Given the description of an element on the screen output the (x, y) to click on. 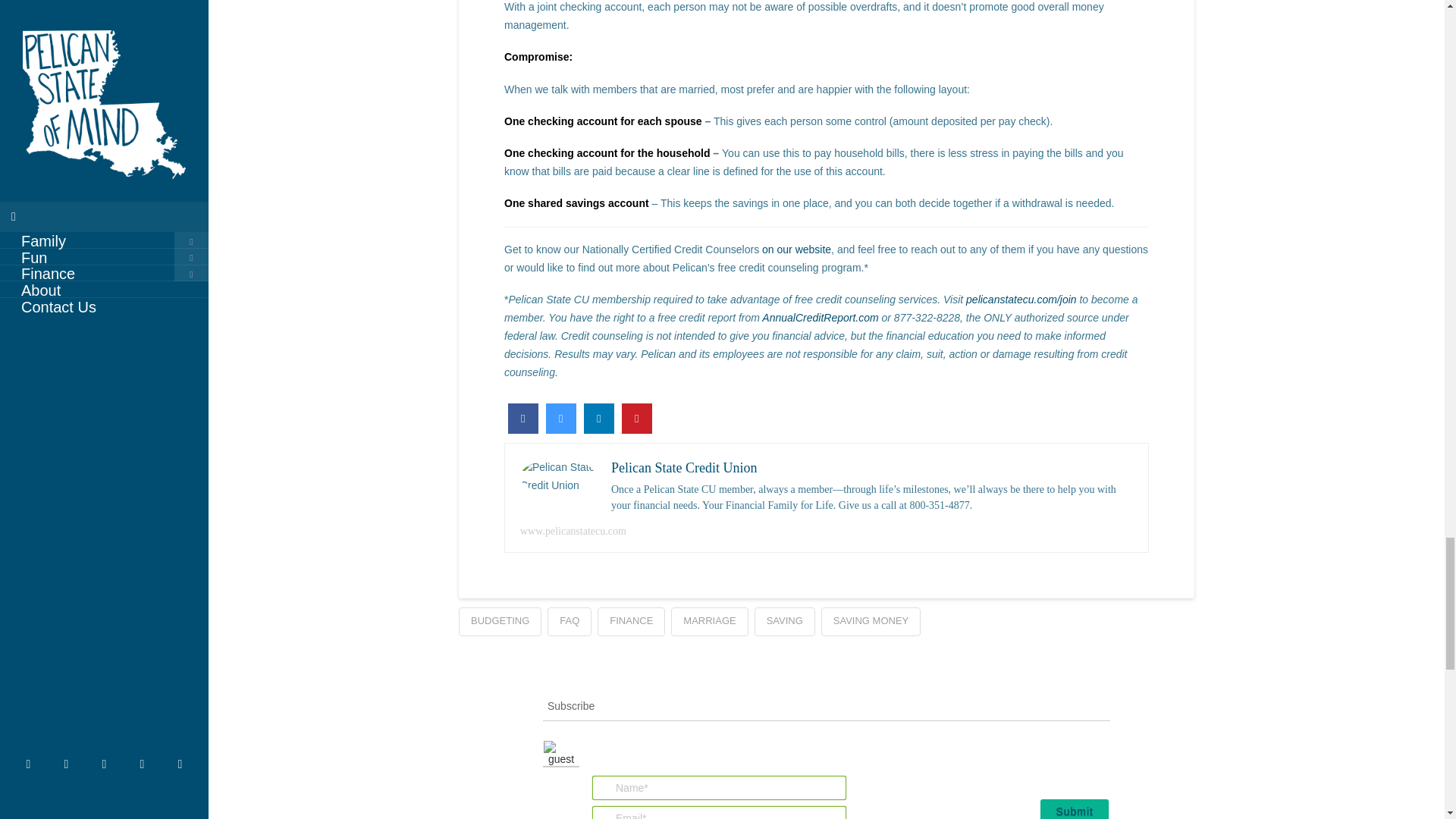
Share on Facebook (523, 429)
on our website (796, 249)
Share to LinkedIn (598, 429)
www.pelicanstatecu.com (572, 531)
Pelican State Credit Union (684, 467)
Share on Twitter (561, 429)
Share on Pinterest (636, 429)
FAQ (569, 621)
AnnualCreditReport.com (819, 317)
Submit (1074, 809)
